Given the description of an element on the screen output the (x, y) to click on. 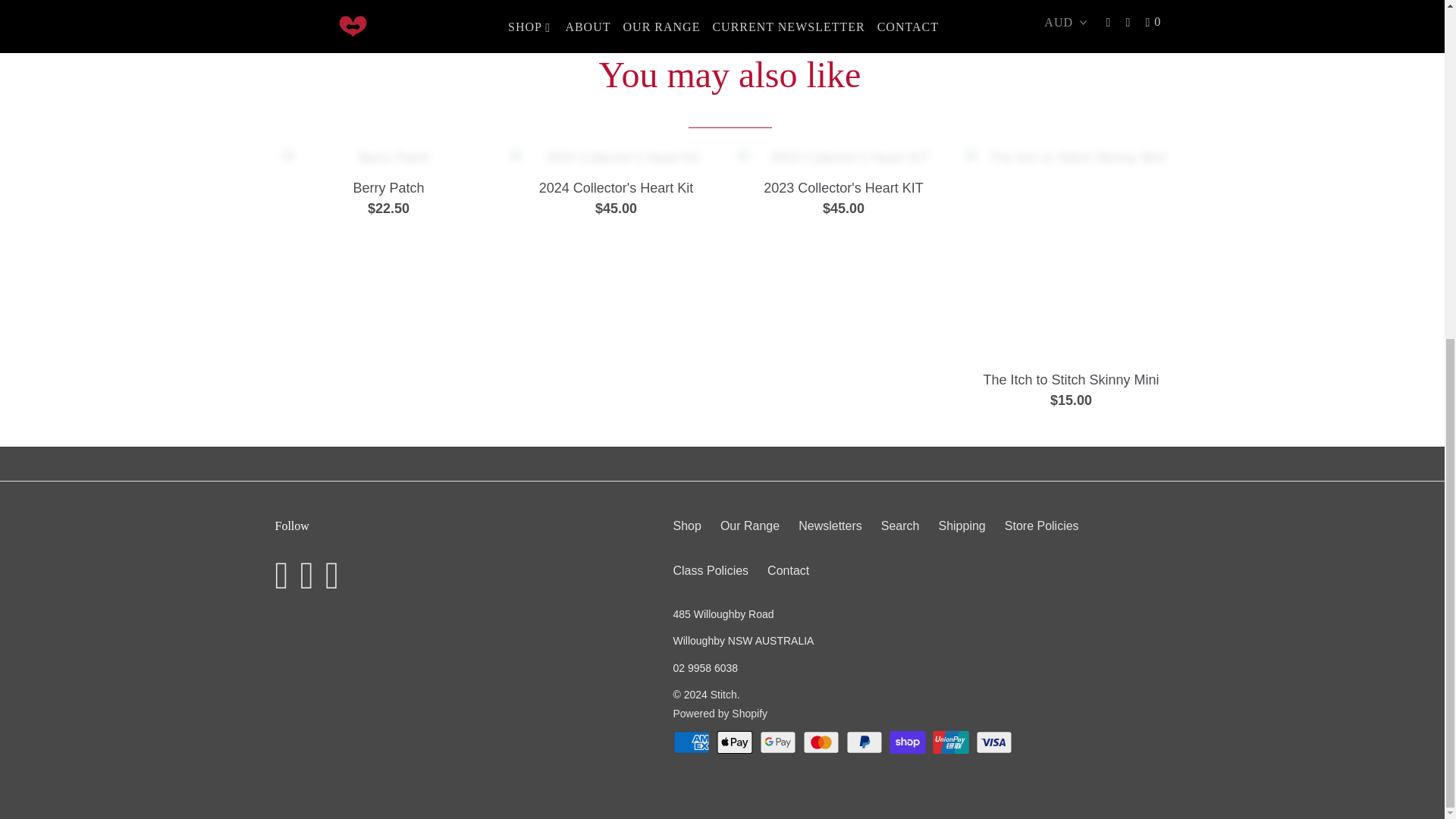
Cross Stitch Charts (855, 22)
Products tagged fairy (895, 5)
Visa (994, 742)
Products tagged Petal Pusher (1007, 5)
Mastercard (823, 742)
American Express (692, 742)
Products tagged Nashville 2024 (943, 5)
Union Pay (952, 742)
Apple Pay (735, 742)
Products tagged cross stitch (857, 5)
Google Pay (779, 742)
PayPal (865, 742)
Shop Pay (908, 742)
